Given the description of an element on the screen output the (x, y) to click on. 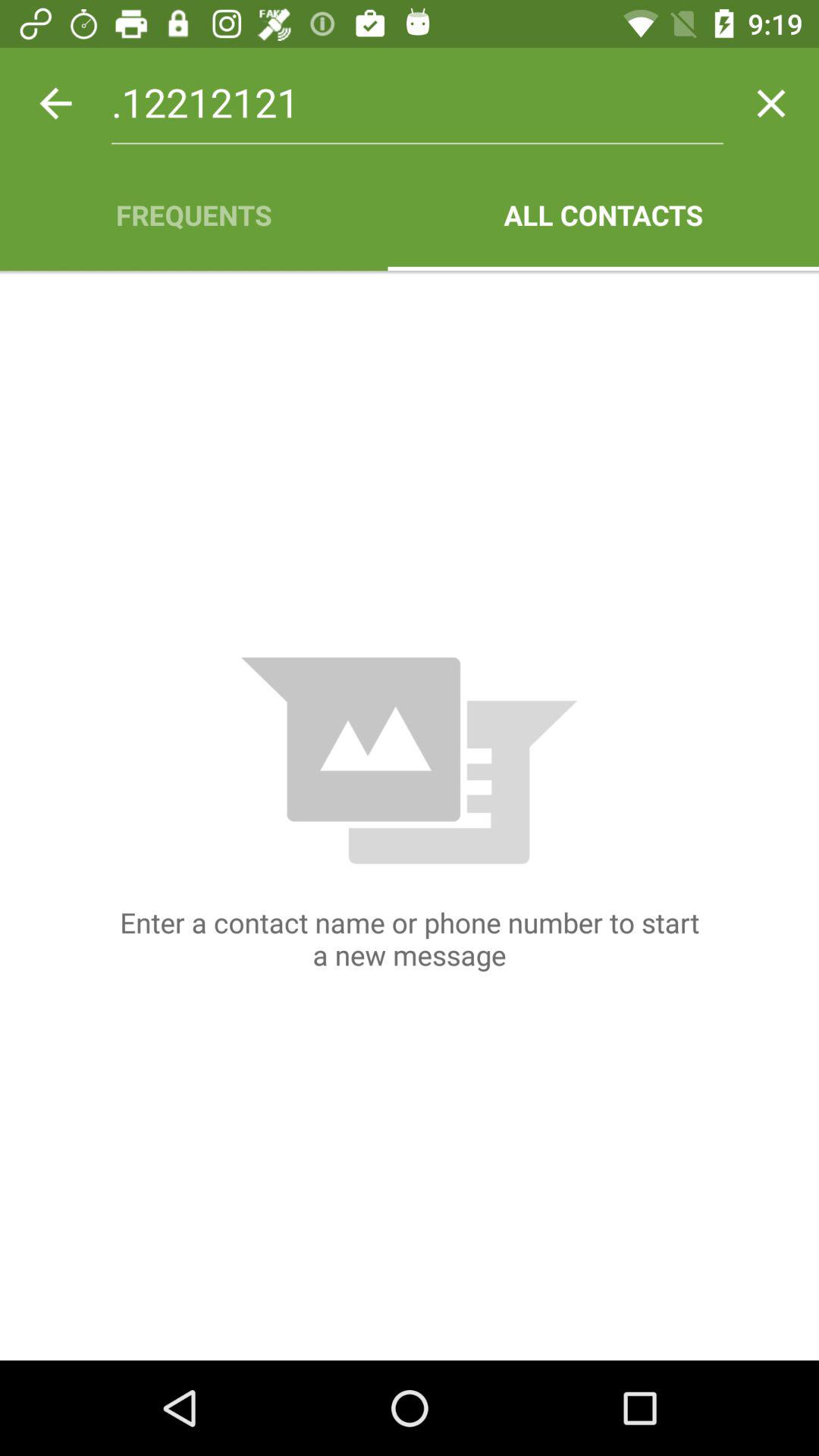
select the item next to the all contacts item (193, 214)
